Given the description of an element on the screen output the (x, y) to click on. 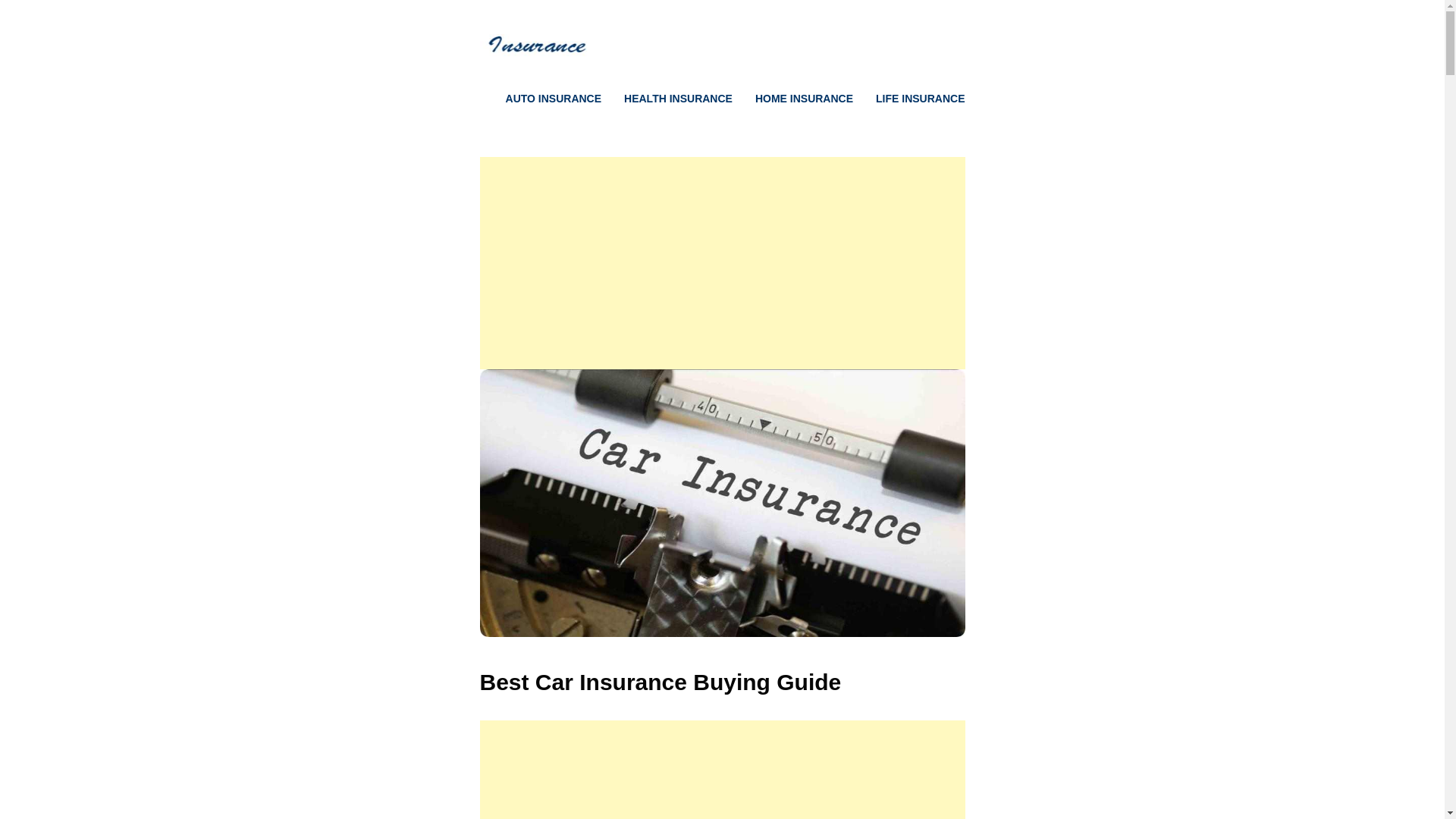
LIFE INSURANCE Element type: text (908, 98)
Best Car Insurance Buying Guide Photo Element type: hover (721, 503)
HOME INSURANCE Element type: text (792, 98)
Insurance Quotes and Comparison - Car, Life, Home & Health Element type: text (532, 56)
AUTO INSURANCE Element type: text (542, 98)
Advertisement Element type: hover (721, 262)
HEALTH INSURANCE Element type: text (666, 98)
Best Car Insurance Buying Guide Element type: text (659, 681)
Best Car Insurance Buying Guide Element type: hover (721, 632)
